Given the description of an element on the screen output the (x, y) to click on. 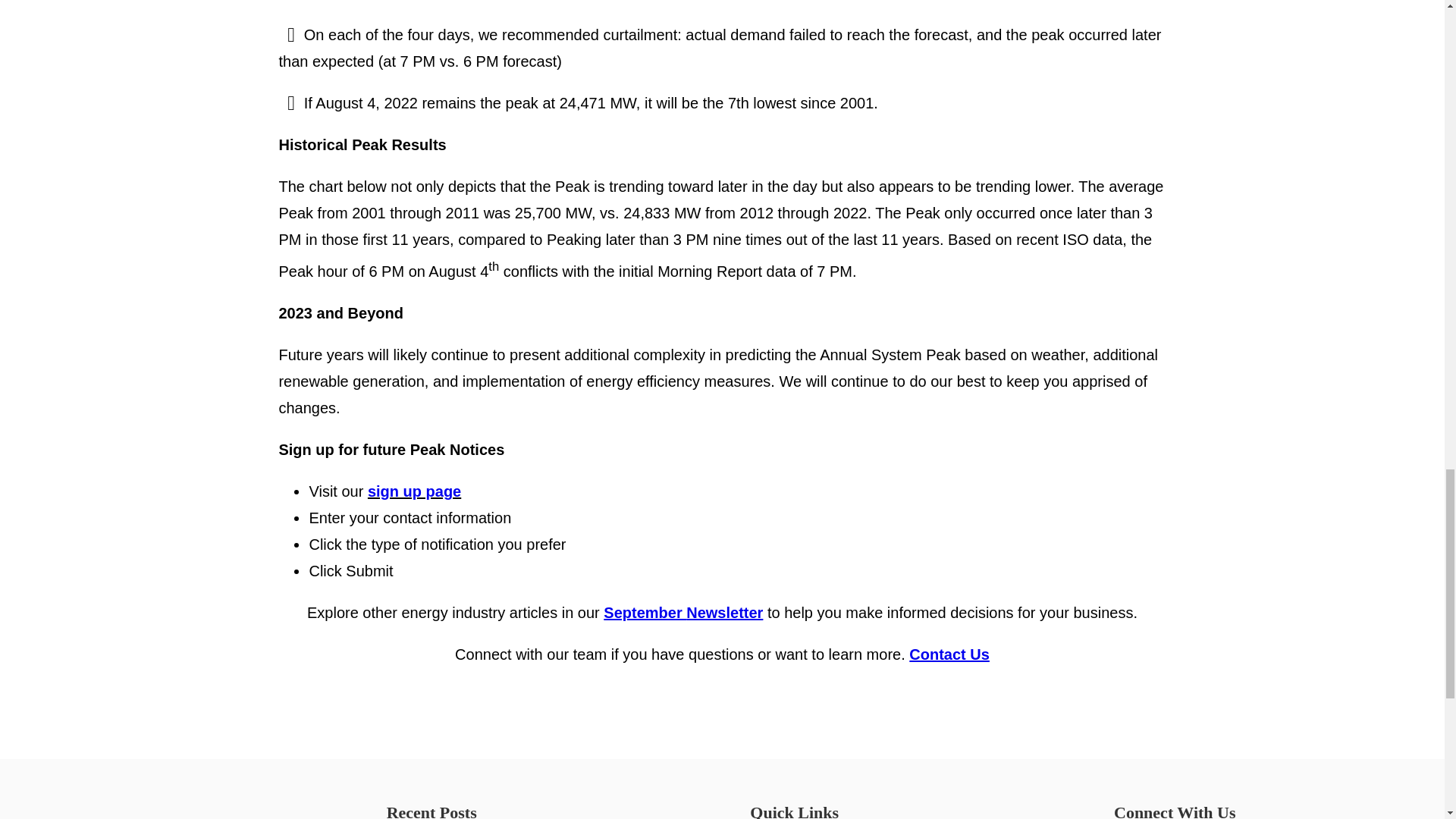
September Newsletter (683, 612)
sign up page (414, 491)
